Given the description of an element on the screen output the (x, y) to click on. 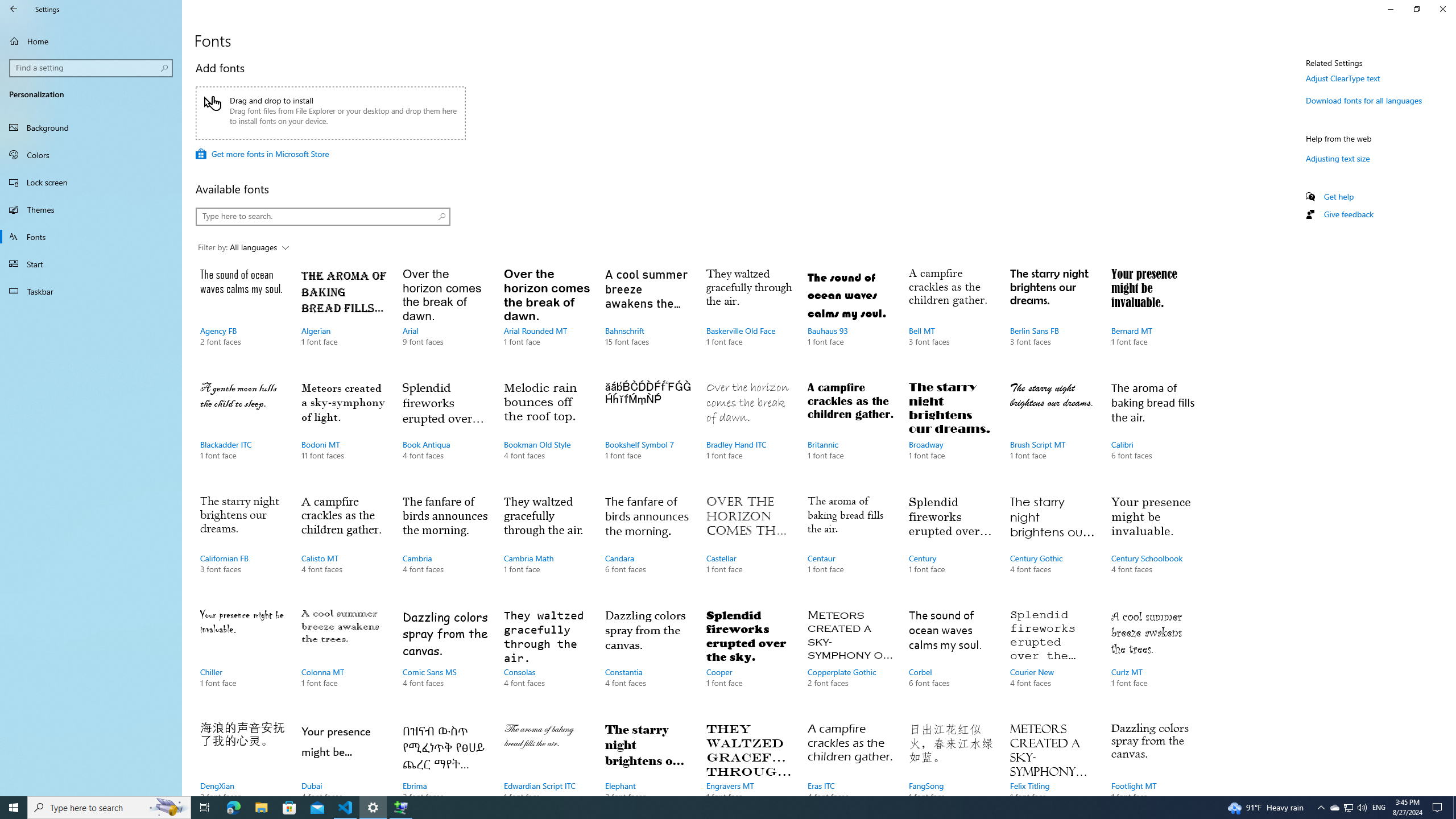
Calibri, 6 font faces (1153, 431)
Bahnschrift, 15 font faces (647, 318)
Dubai, 4 font faces (343, 756)
Copperplate Gothic, 2 font faces (850, 659)
Cambria, 4 font faces (445, 545)
Constantia, 4 font faces (647, 659)
Fonts (91, 236)
Give feedback (1348, 213)
Restore Settings (1416, 9)
Bernard MT, 1 font face (1153, 318)
Century Schoolbook, 4 font faces (1153, 545)
Felix Titling, 1 font face (1052, 756)
Edwardian Script ITC, 1 font face (545, 756)
Tray Input Indicator - English (United States) (1378, 807)
Filter by: All languages (243, 248)
